Given the description of an element on the screen output the (x, y) to click on. 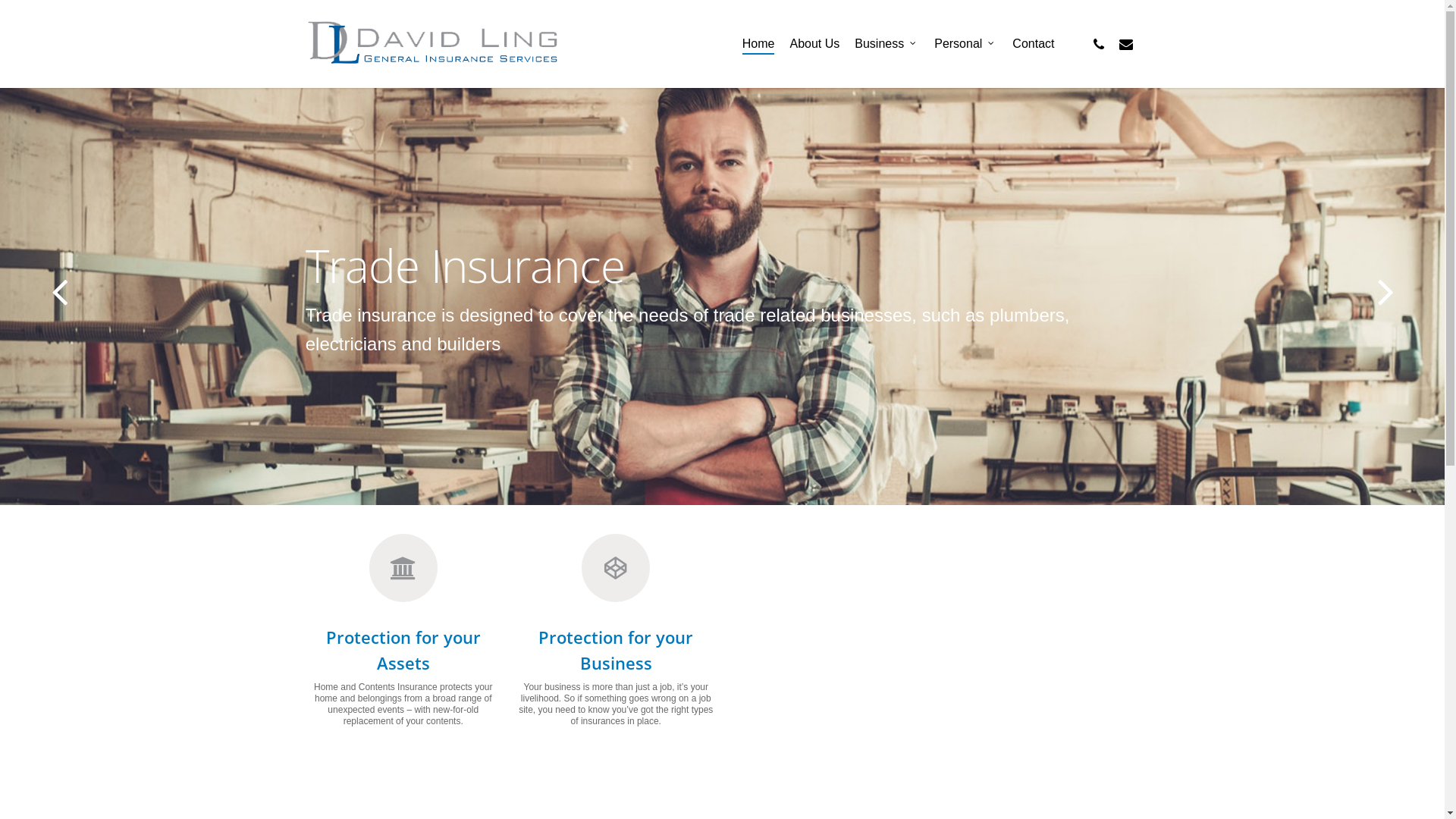
Personal Element type: text (965, 43)
Contact Element type: text (1033, 43)
email Element type: text (1125, 43)
About Us Element type: text (814, 43)
Business Element type: text (886, 43)
phone Element type: text (1097, 43)
Resilium Insurance Broking Element type: hover (935, 650)
Home Element type: text (758, 43)
